Given the description of an element on the screen output the (x, y) to click on. 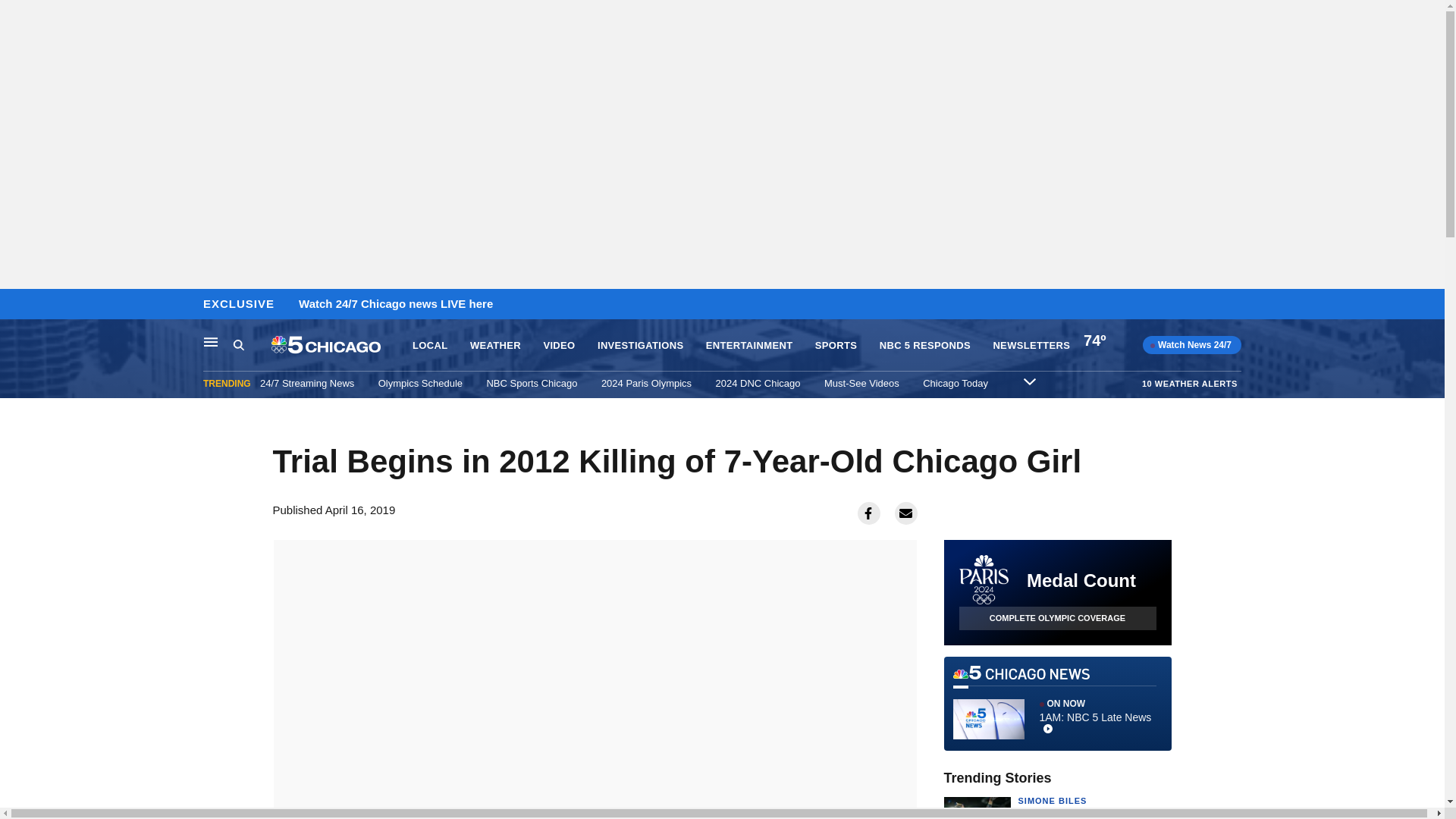
INVESTIGATIONS (639, 345)
Olympics Schedule (420, 383)
10 WEATHER ALERTS (1189, 383)
SPORTS (836, 345)
2024 DNC Chicago (758, 383)
NBC 5 RESPONDS (925, 345)
Search (252, 345)
Skip to content (16, 304)
NEWSLETTERS (1031, 345)
NBC Sports Chicago (531, 383)
2024 Paris Olympics (646, 383)
Main Navigation (210, 341)
Chicago Today (955, 383)
ENTERTAINMENT (749, 345)
